Given the description of an element on the screen output the (x, y) to click on. 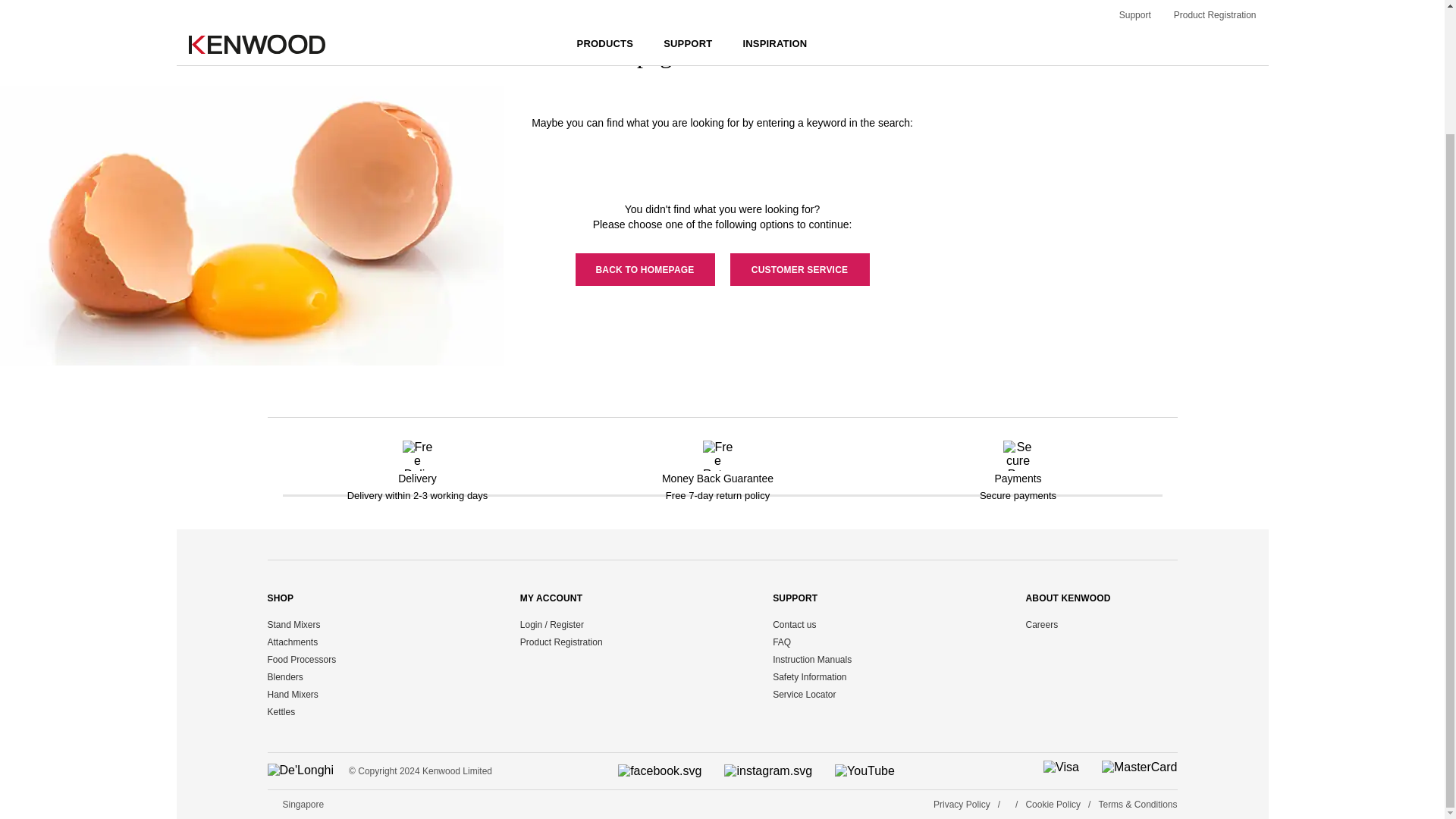
Stand Mixers (293, 624)
Kettles (280, 711)
Customer service (799, 269)
Instruction Manuals (812, 659)
Hand Mixers (291, 694)
Careers (1041, 624)
Blenders (284, 676)
FAQ (781, 642)
Product Registration (560, 642)
Food Processors (301, 659)
Back to homepage (644, 269)
Safety Information (809, 676)
Contact us (794, 624)
Service Locator (804, 694)
Attachments (291, 642)
